Given the description of an element on the screen output the (x, y) to click on. 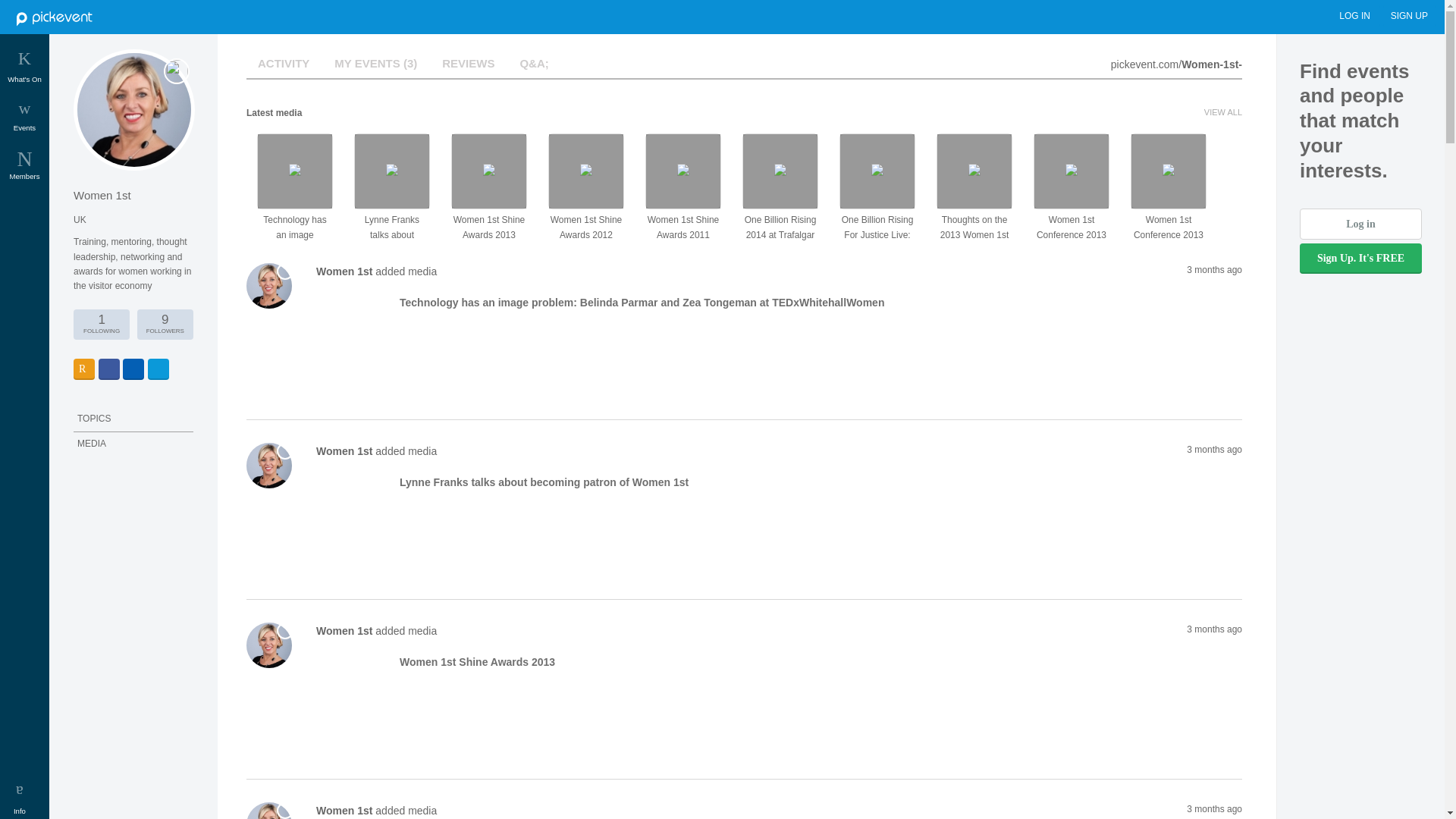
Women 1st (345, 630)
SIGN UP (1409, 15)
Users (24, 170)
LOG IN (1356, 15)
Overall (24, 71)
Women 1st (345, 810)
ACTIVITY (24, 170)
Search Events (282, 62)
